Given the description of an element on the screen output the (x, y) to click on. 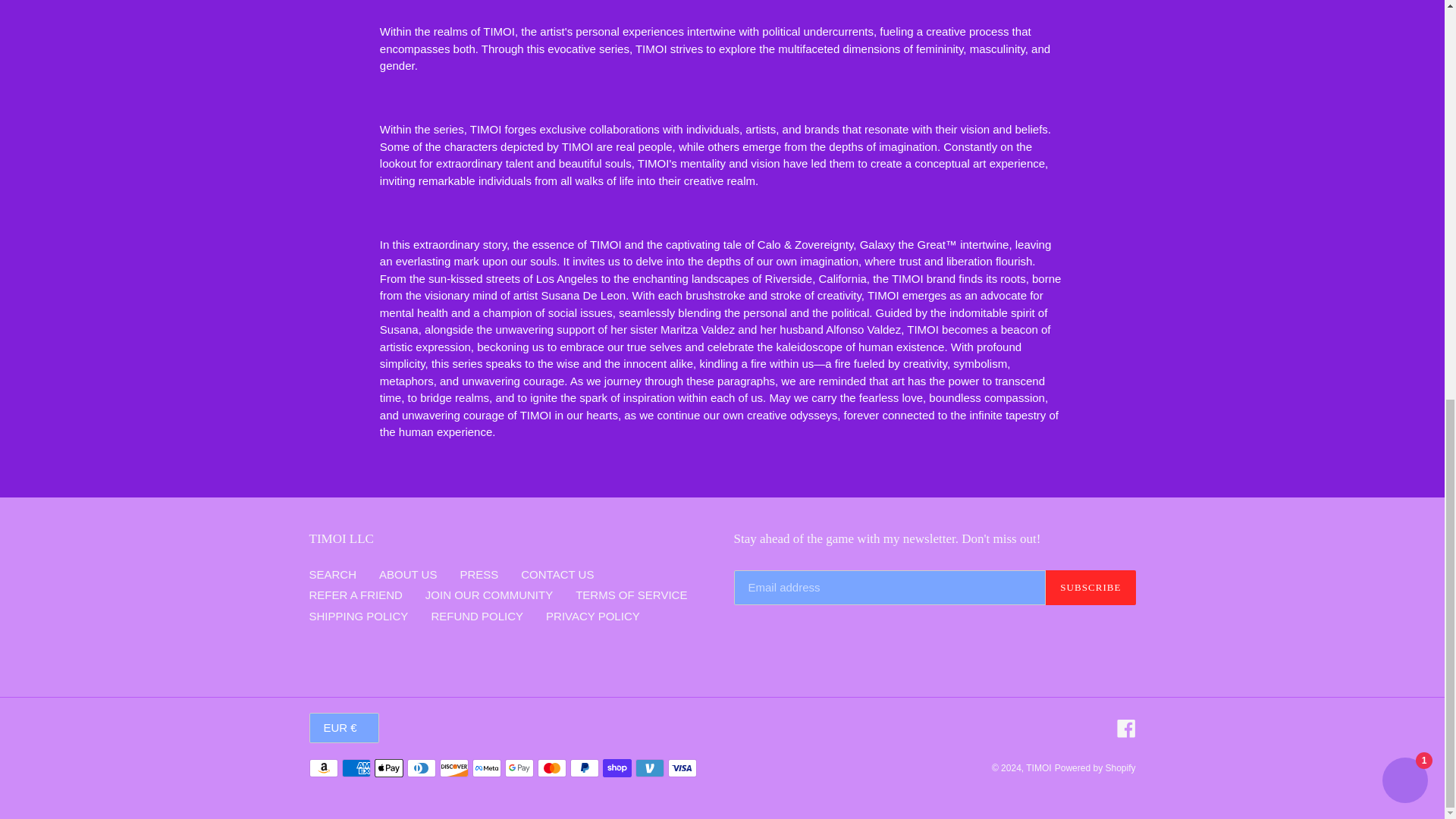
Shopify online store chat (1404, 13)
